Given the description of an element on the screen output the (x, y) to click on. 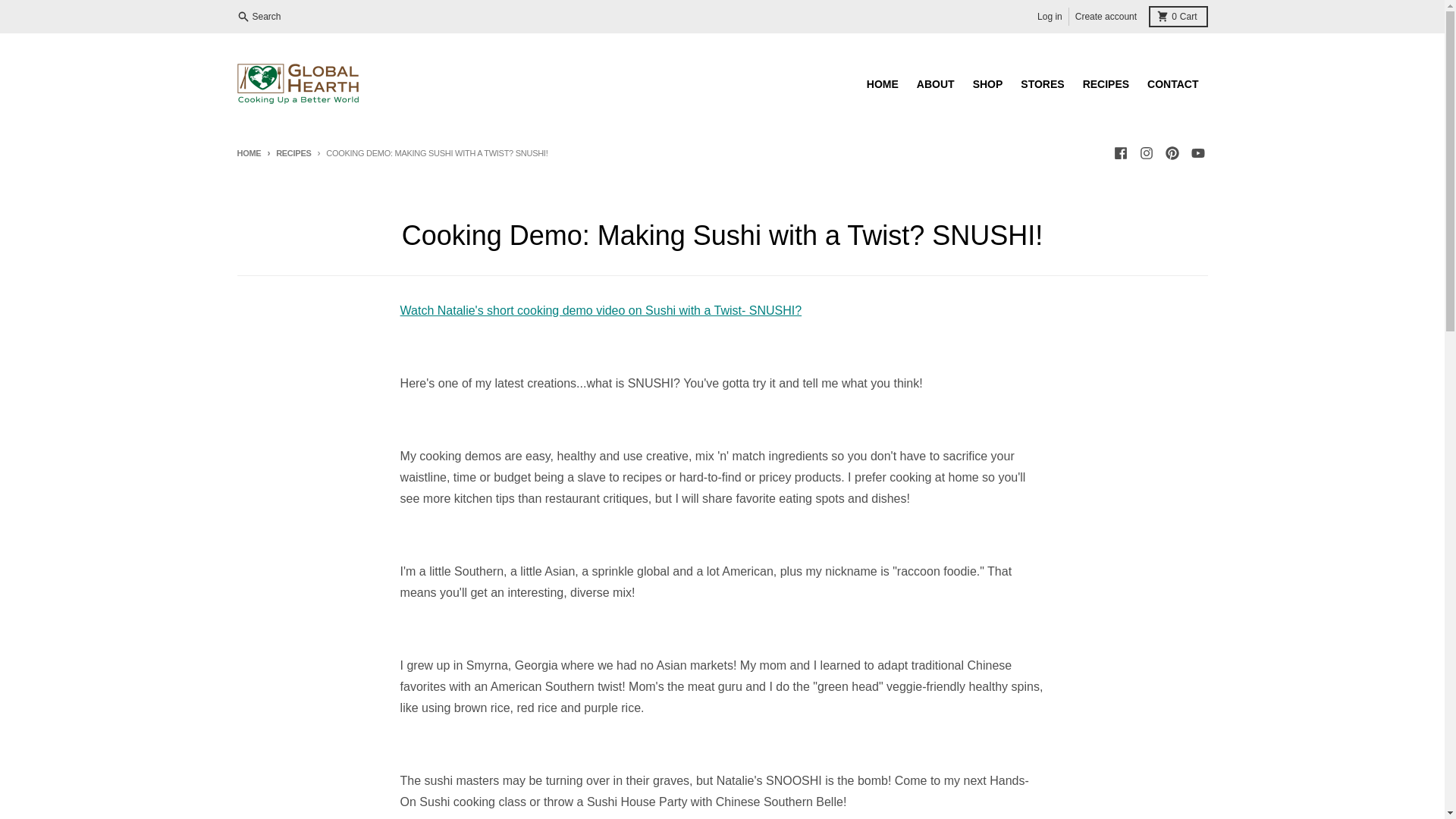
HOME (247, 153)
RECIPES (285, 153)
SHOP (987, 83)
CONTACT (1172, 83)
Back to the homepage (247, 153)
HOME (882, 83)
STORES (1042, 83)
Create account (1105, 16)
RECIPES (1106, 83)
